Given the description of an element on the screen output the (x, y) to click on. 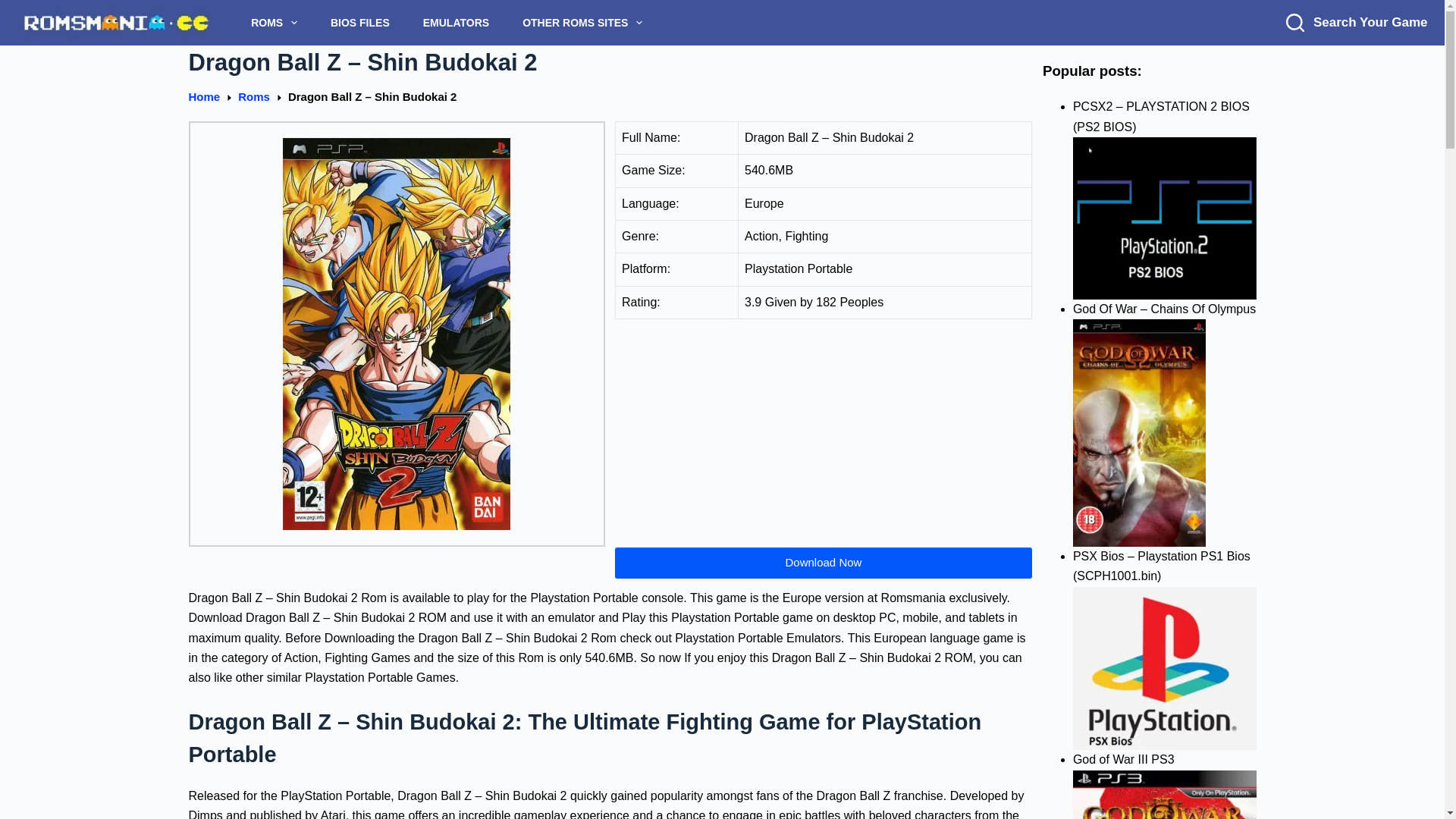
EMULATORS (455, 22)
Skip to content (15, 7)
Home (203, 97)
OTHER ROMS SITES (582, 22)
BIOS FILES (360, 22)
Download Now (823, 562)
Roms (253, 97)
Search Your Game (1355, 22)
God of War III PS3 (1164, 794)
ROMS (274, 22)
